Given the description of an element on the screen output the (x, y) to click on. 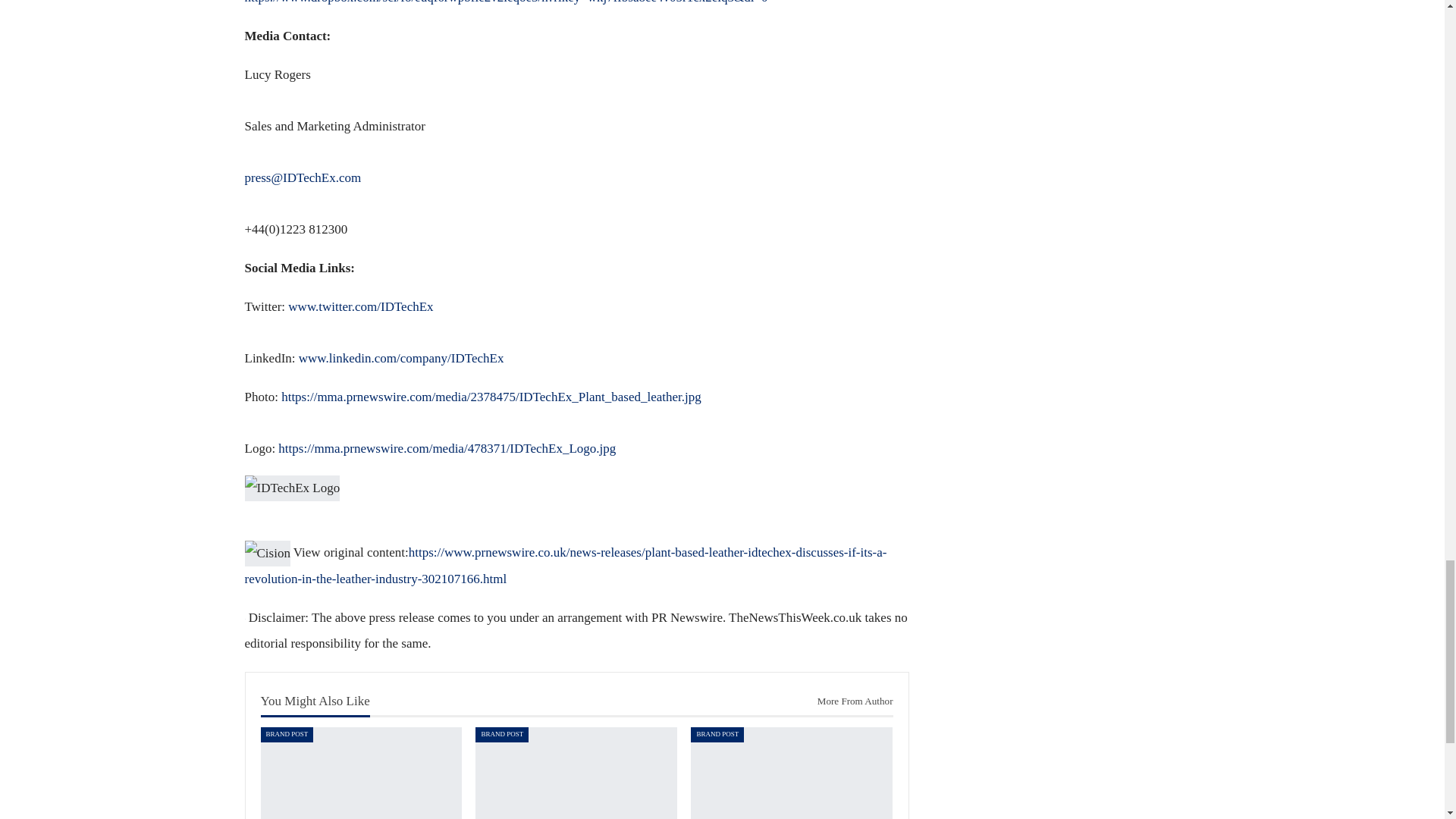
IDTechEx Logo (291, 488)
Cision (266, 553)
